Given the description of an element on the screen output the (x, y) to click on. 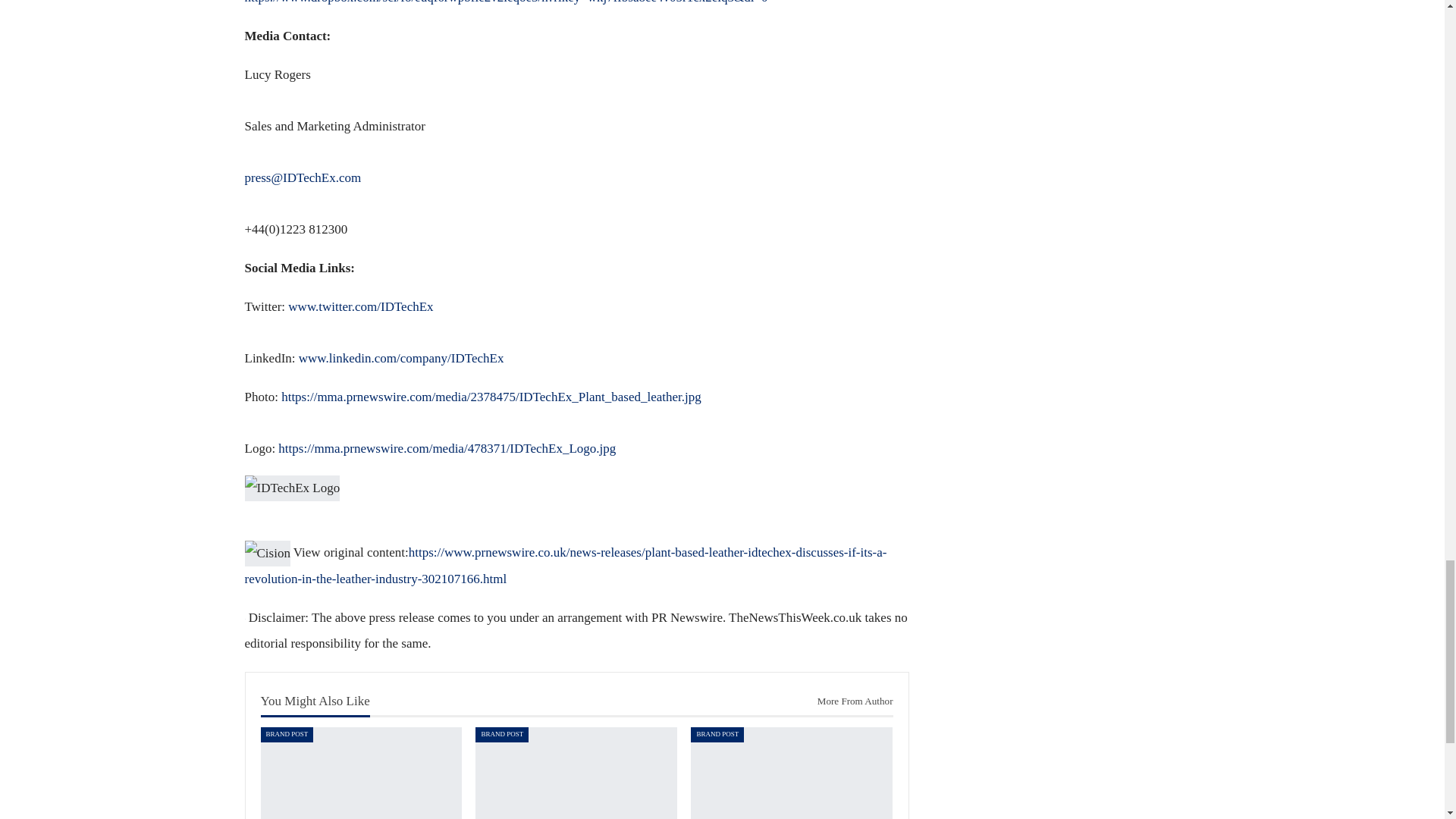
IDTechEx Logo (291, 488)
Cision (266, 553)
